Given the description of an element on the screen output the (x, y) to click on. 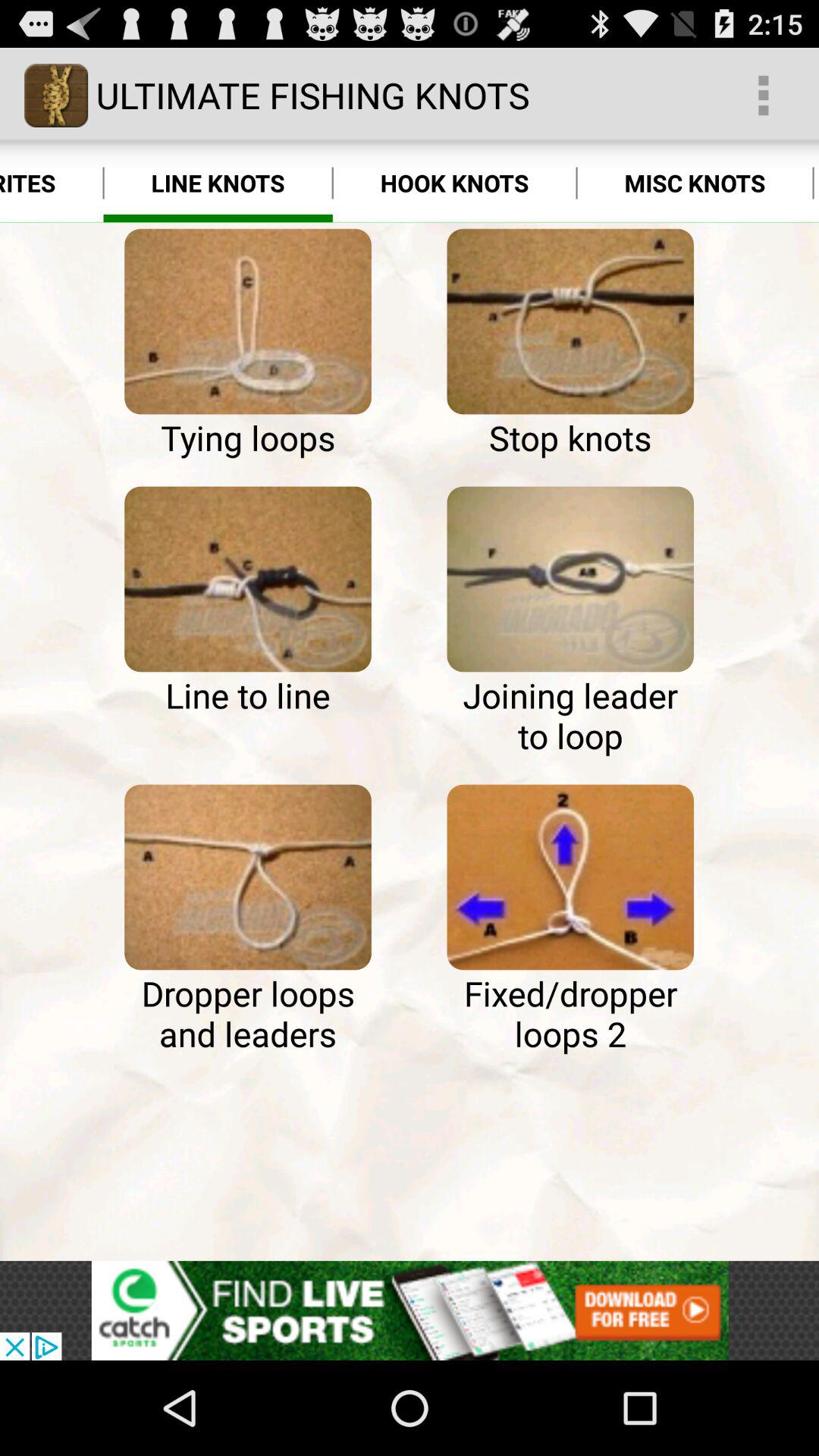
select knot (570, 578)
